Given the description of an element on the screen output the (x, y) to click on. 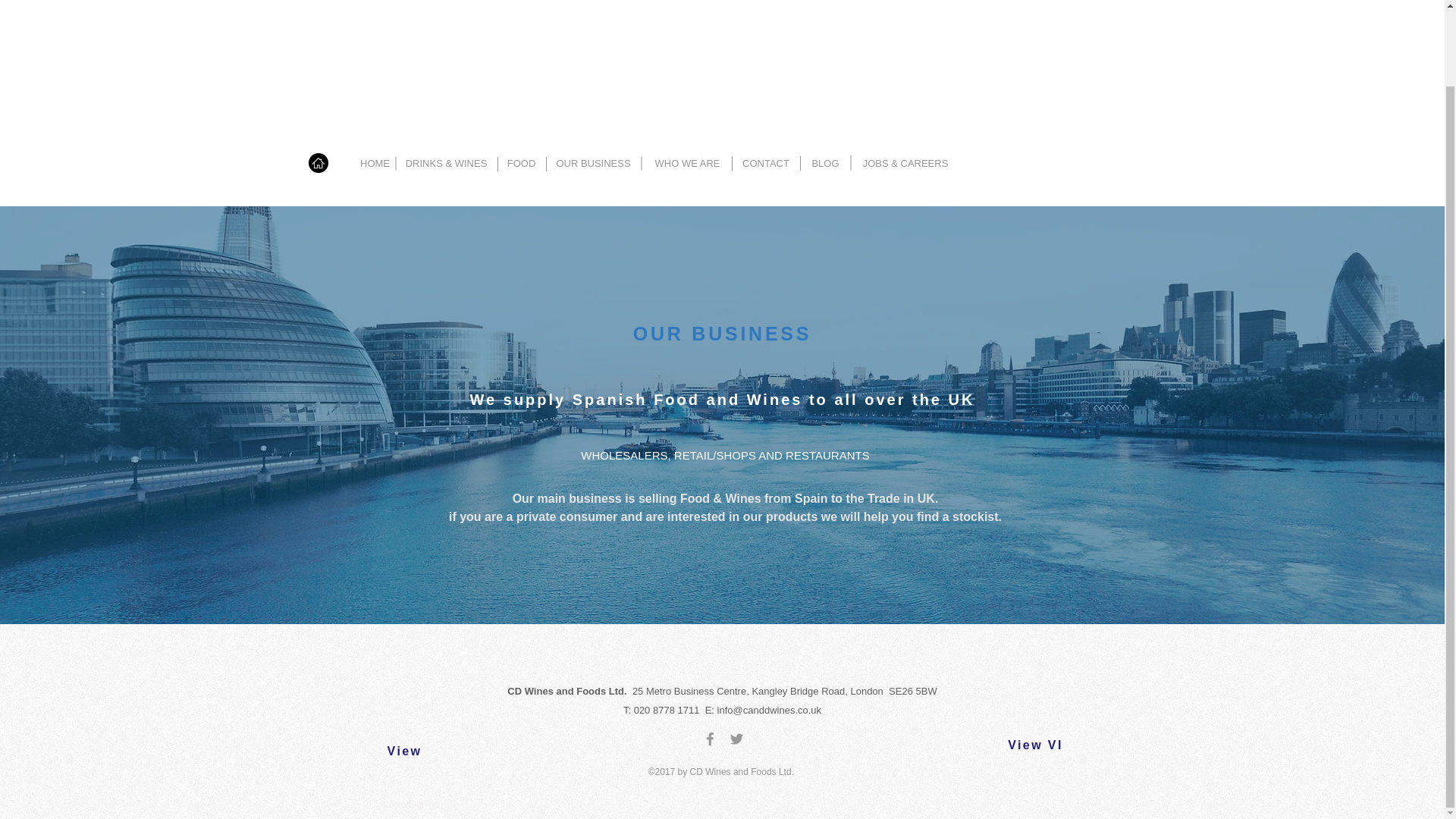
CONTACT (765, 163)
FOOD (521, 163)
BLOG (825, 163)
HOME (374, 163)
View (404, 751)
WHO WE ARE (687, 163)
View VI (1035, 745)
OUR BUSINESS (593, 163)
